Given the description of an element on the screen output the (x, y) to click on. 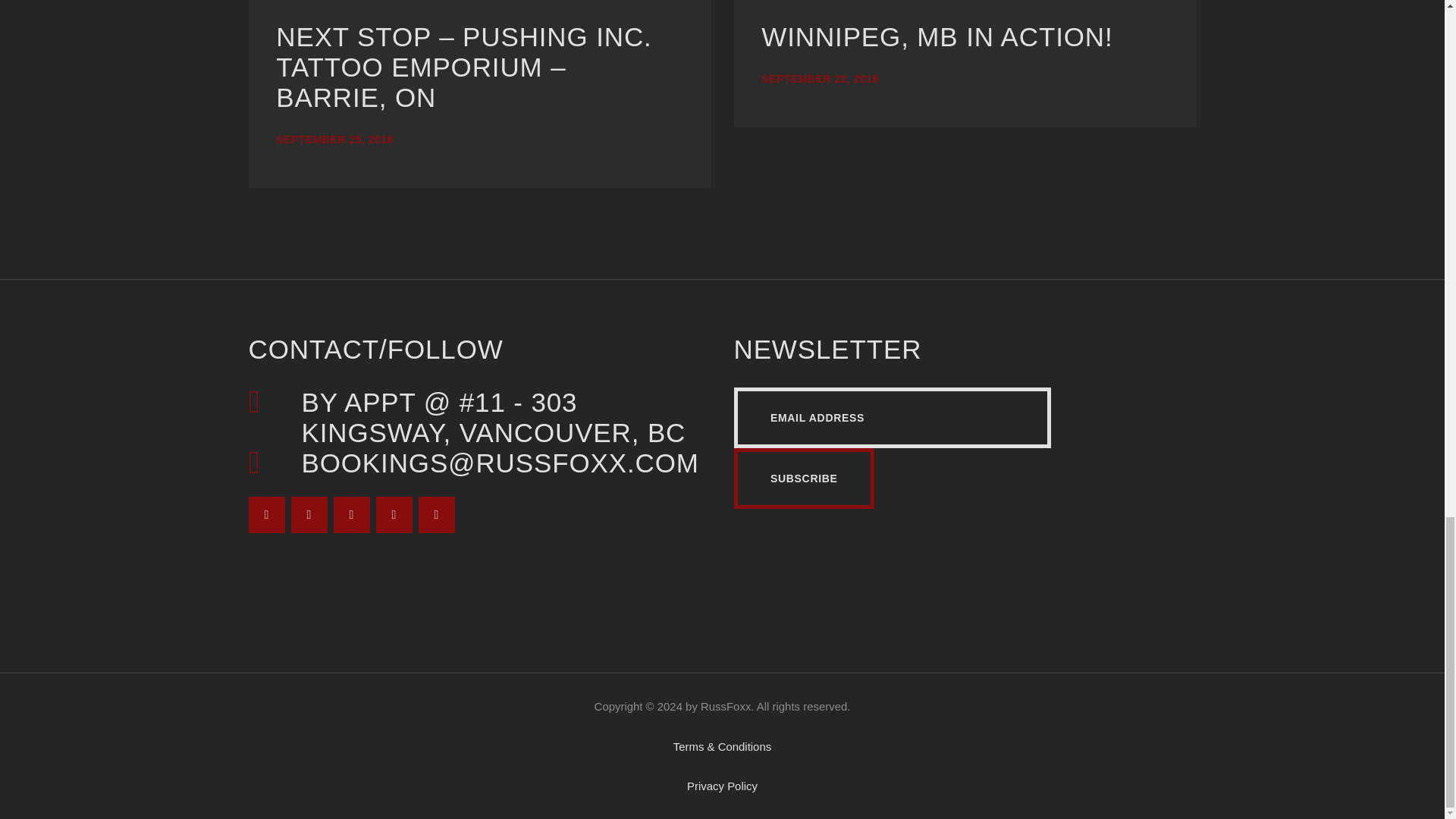
Subscribe (804, 477)
